Given the description of an element on the screen output the (x, y) to click on. 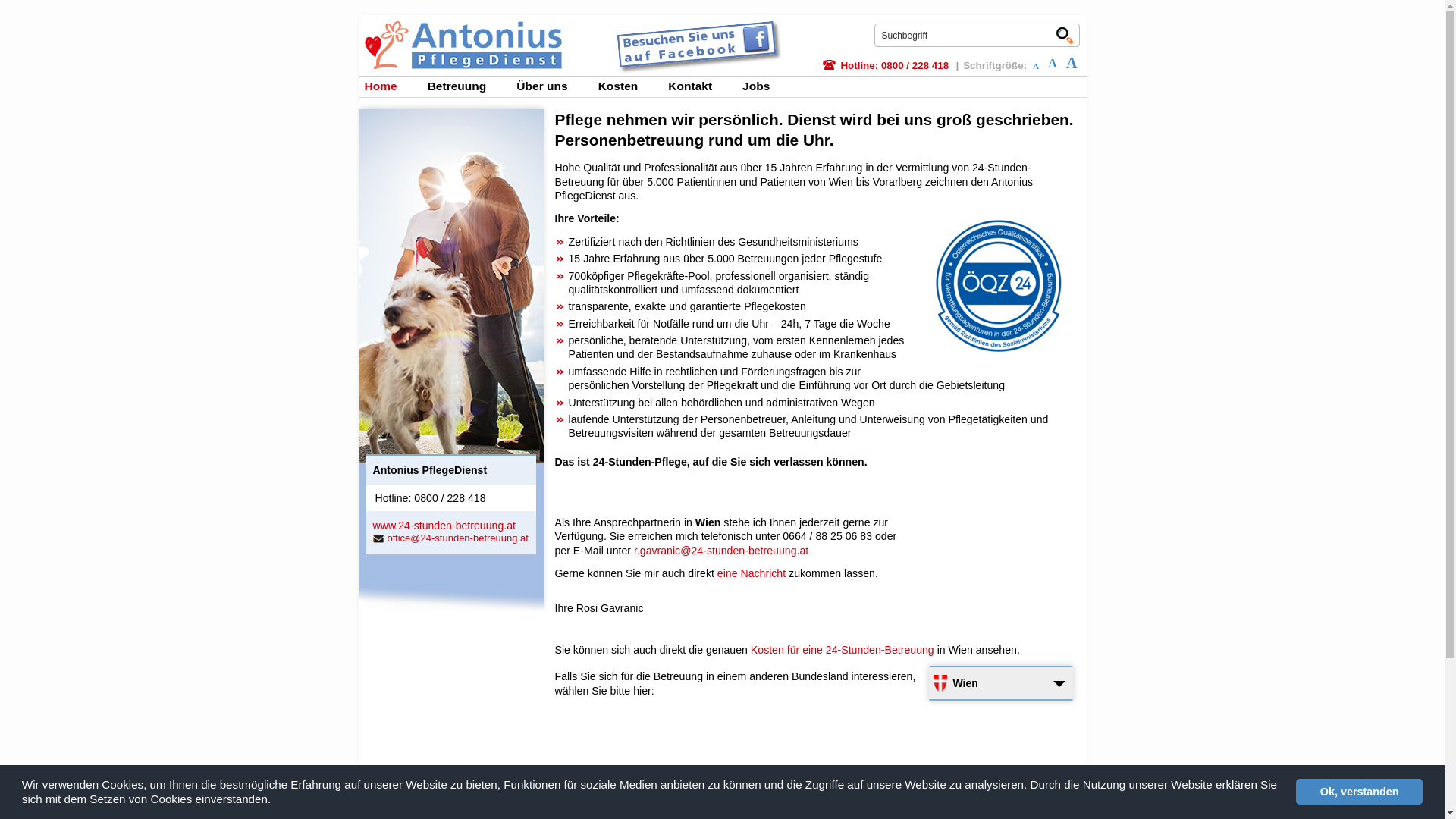
A Element type: text (1071, 62)
Antonius PflegeDienst - Facebook Element type: hover (378, 801)
Kontakt Element type: text (693, 86)
Ok, verstanden Element type: text (1358, 791)
Jobs Element type: text (758, 86)
A Element type: text (1052, 63)
0664 / 88 25 06 83 Element type: text (828, 536)
Betreuung Element type: text (459, 86)
A Element type: text (1035, 65)
Besuchen Sie uns auf Facebook Element type: hover (696, 45)
Kosten Element type: text (621, 86)
r.gavranic@24-stunden-betreuung.at Element type: text (720, 550)
Antonius Pflegedienst Element type: hover (462, 27)
Antonius Pflegedienst Element type: hover (462, 44)
www.24-stunden-betreuung.at Element type: text (444, 525)
Besuchen Sie uns auf Facebook Element type: hover (696, 24)
office@24-stunden-betreuung.at Element type: text (450, 537)
Wien Element type: text (1000, 683)
Home Element type: text (383, 86)
eine Nachricht Element type: text (751, 573)
Antonius PflegeDienst - Twitter Element type: hover (448, 801)
